Given the description of an element on the screen output the (x, y) to click on. 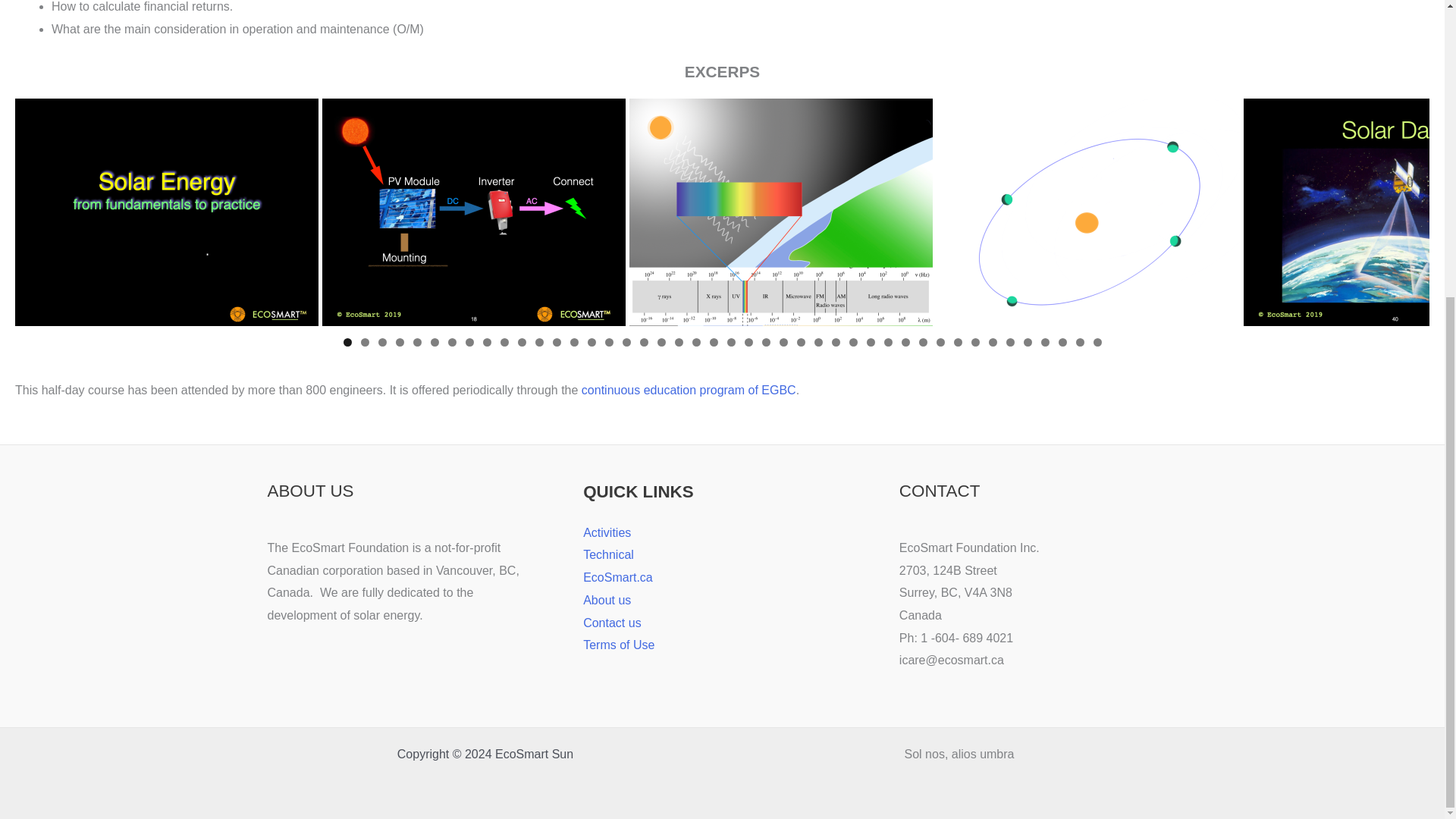
SolarCourse018 (473, 211)
SolarCourse035 (1088, 211)
SolarCourse022 (780, 211)
SolarCourse001 (166, 211)
